Given the description of an element on the screen output the (x, y) to click on. 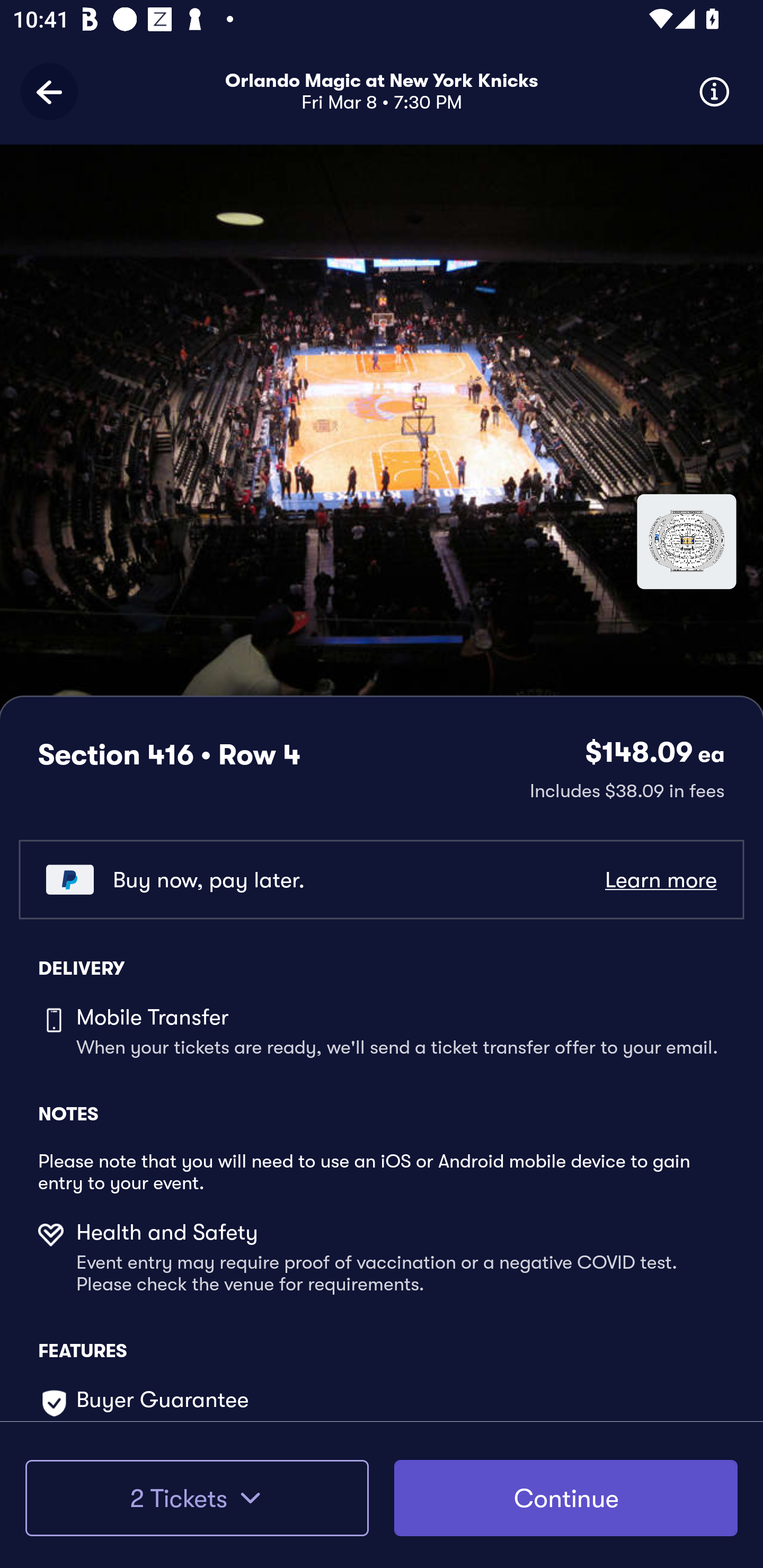
Learn more (660, 880)
2 Tickets (196, 1497)
Continue (565, 1497)
